Given the description of an element on the screen output the (x, y) to click on. 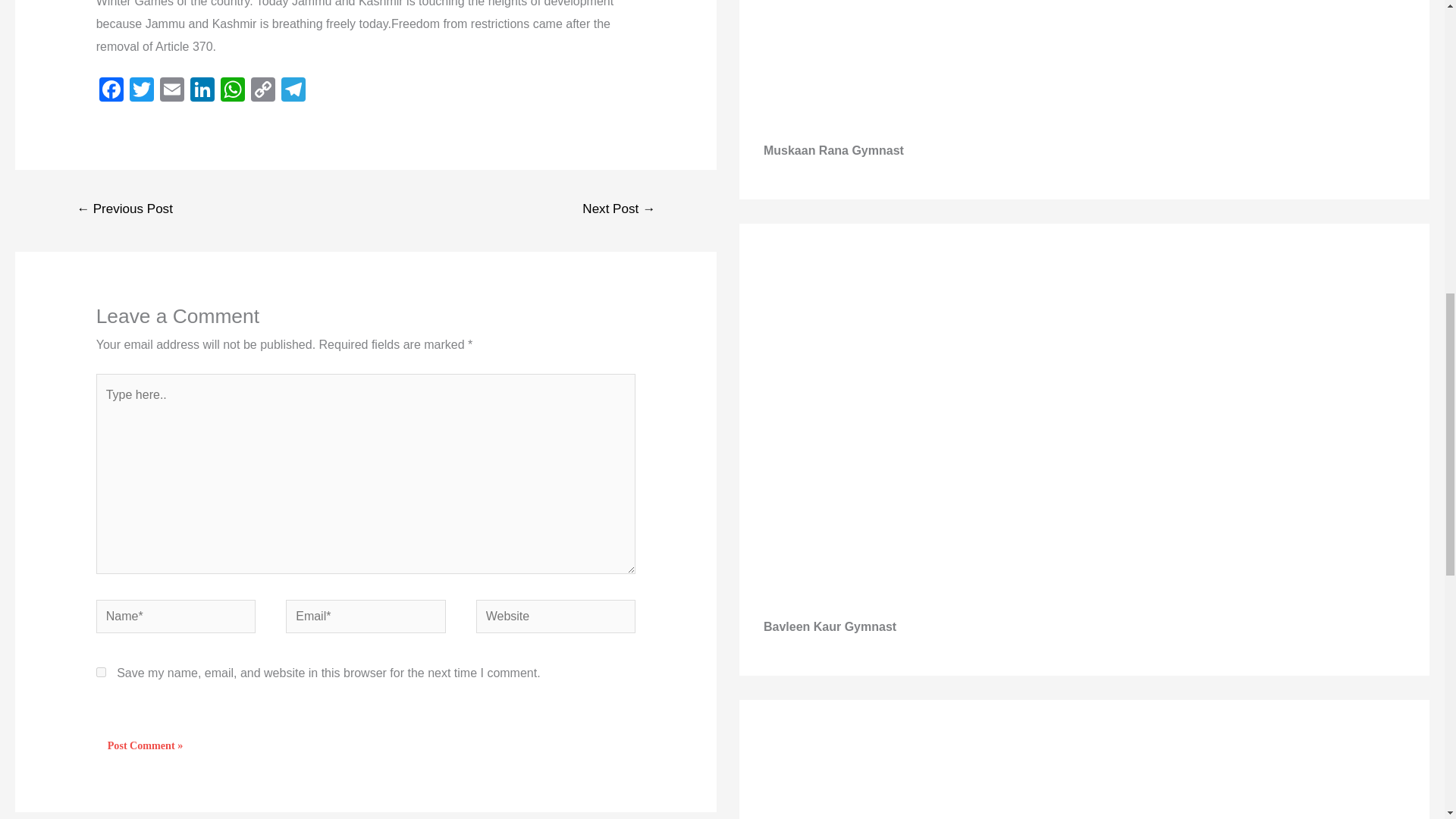
LinkedIn (201, 90)
Copy Link (262, 90)
Facebook (111, 90)
Facebook (111, 90)
Twitter (141, 90)
Email (172, 90)
WhatsApp (231, 90)
yes (101, 672)
